Given the description of an element on the screen output the (x, y) to click on. 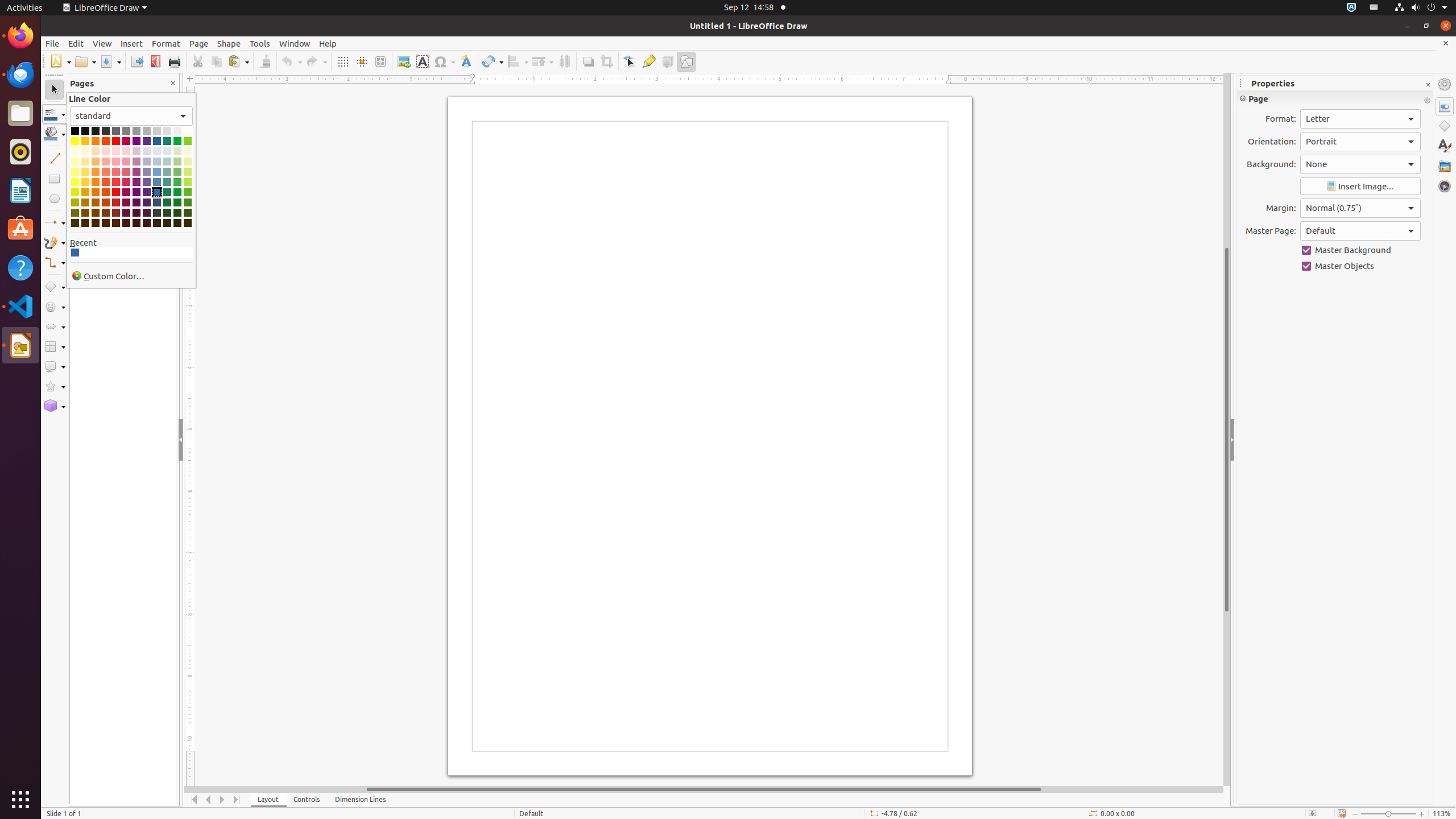
Dark Yellow 2 Element type: list-item (74, 202)
Dark Magenta 3 Element type: list-item (126, 212)
Horizontal scroll bar Element type: scroll-bar (703, 789)
Grid Element type: toggle-button (342, 61)
More Options Element type: push-button (1426, 100)
